Given the description of an element on the screen output the (x, y) to click on. 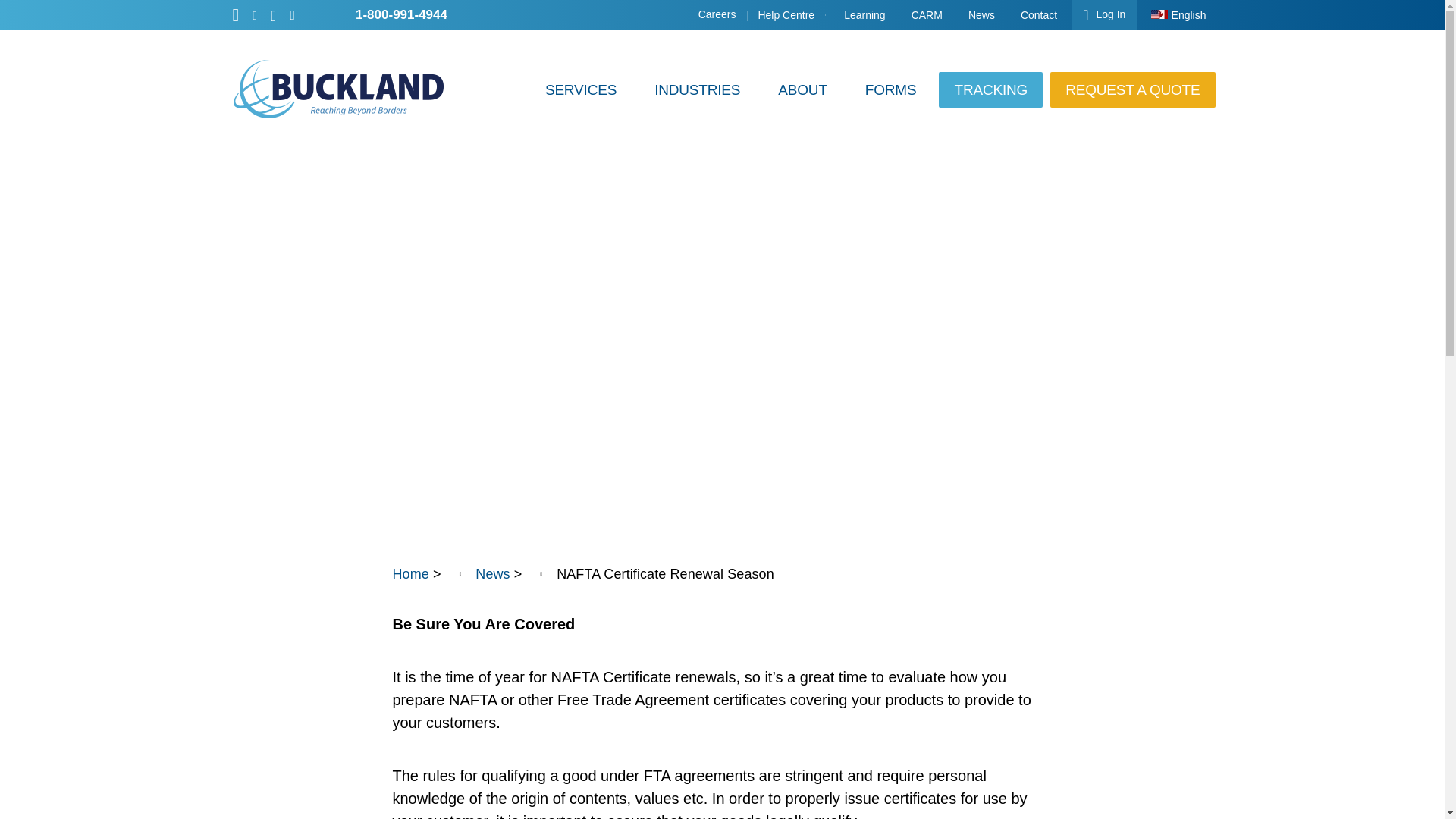
Careers (717, 14)
ABOUT (802, 89)
INDUSTRIES (697, 89)
Log In (1104, 15)
SERVICES (580, 89)
1-800-991-4944 (401, 14)
Help Centre (787, 15)
CARM (926, 15)
FORMS (890, 89)
English (1178, 15)
